Given the description of an element on the screen output the (x, y) to click on. 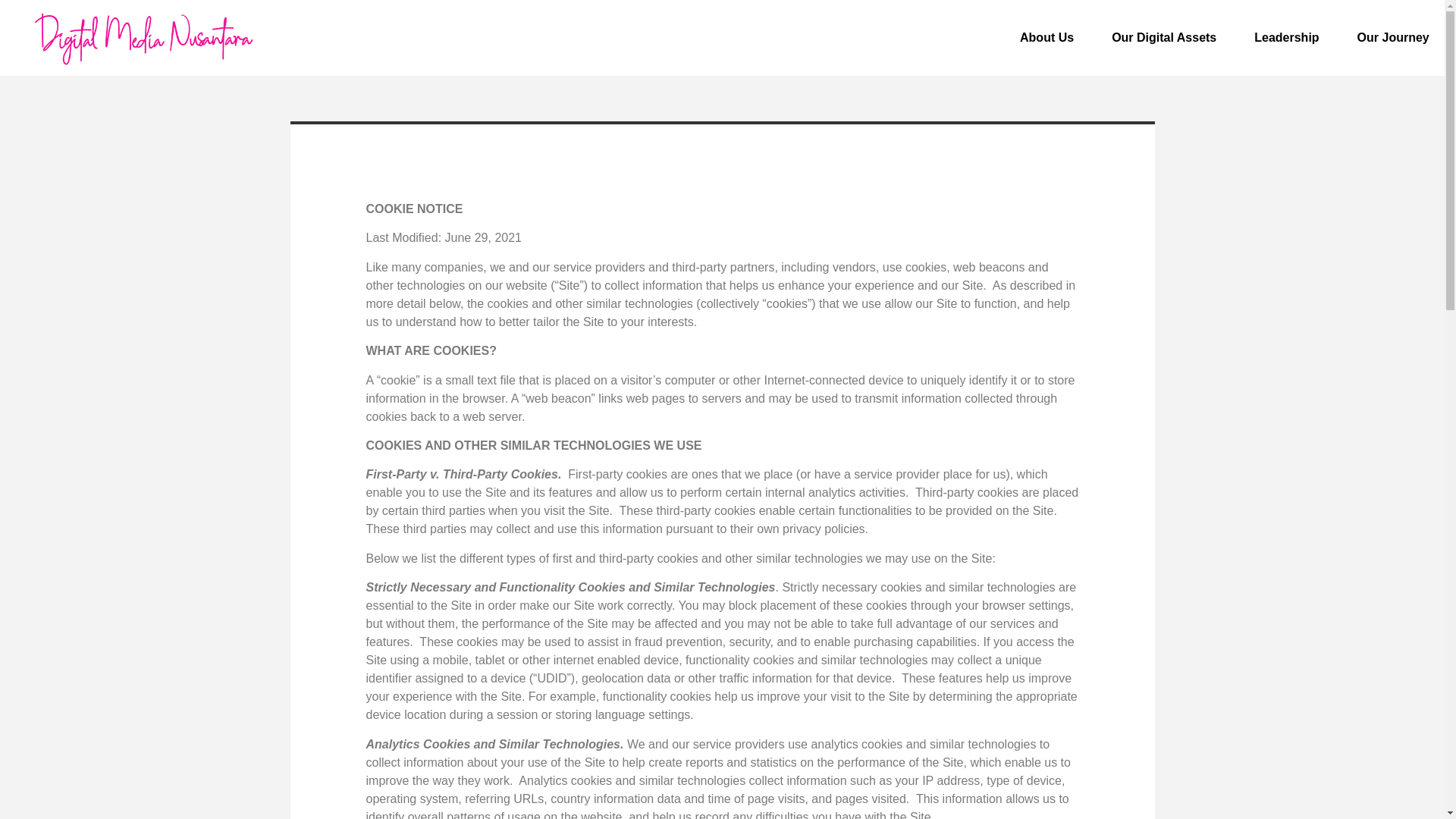
Our Digital Assets (1163, 37)
Leadership (1286, 37)
About Us (1046, 37)
